Given the description of an element on the screen output the (x, y) to click on. 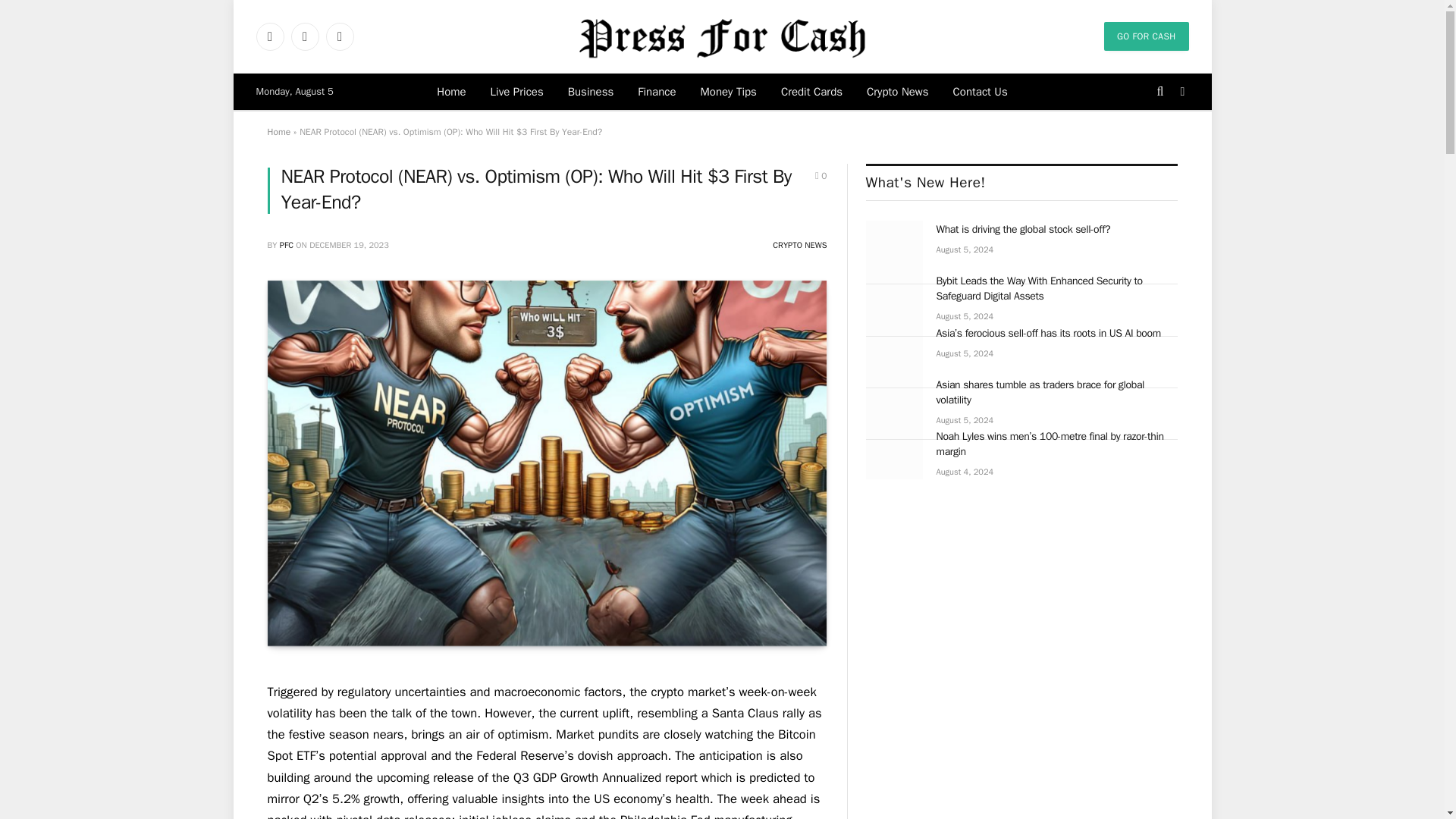
GO FOR CASH (1146, 36)
Posts by PFC (286, 244)
Home (277, 132)
Switch to Dark Design - easier on eyes. (1181, 91)
Live Prices (517, 91)
Contact Us (980, 91)
2023-12-19 (348, 244)
Finance (656, 91)
PFC (286, 244)
Business (591, 91)
PressForCash.com (721, 36)
Facebook (269, 36)
Credit Cards (811, 91)
Instagram (339, 36)
Home (451, 91)
